Given the description of an element on the screen output the (x, y) to click on. 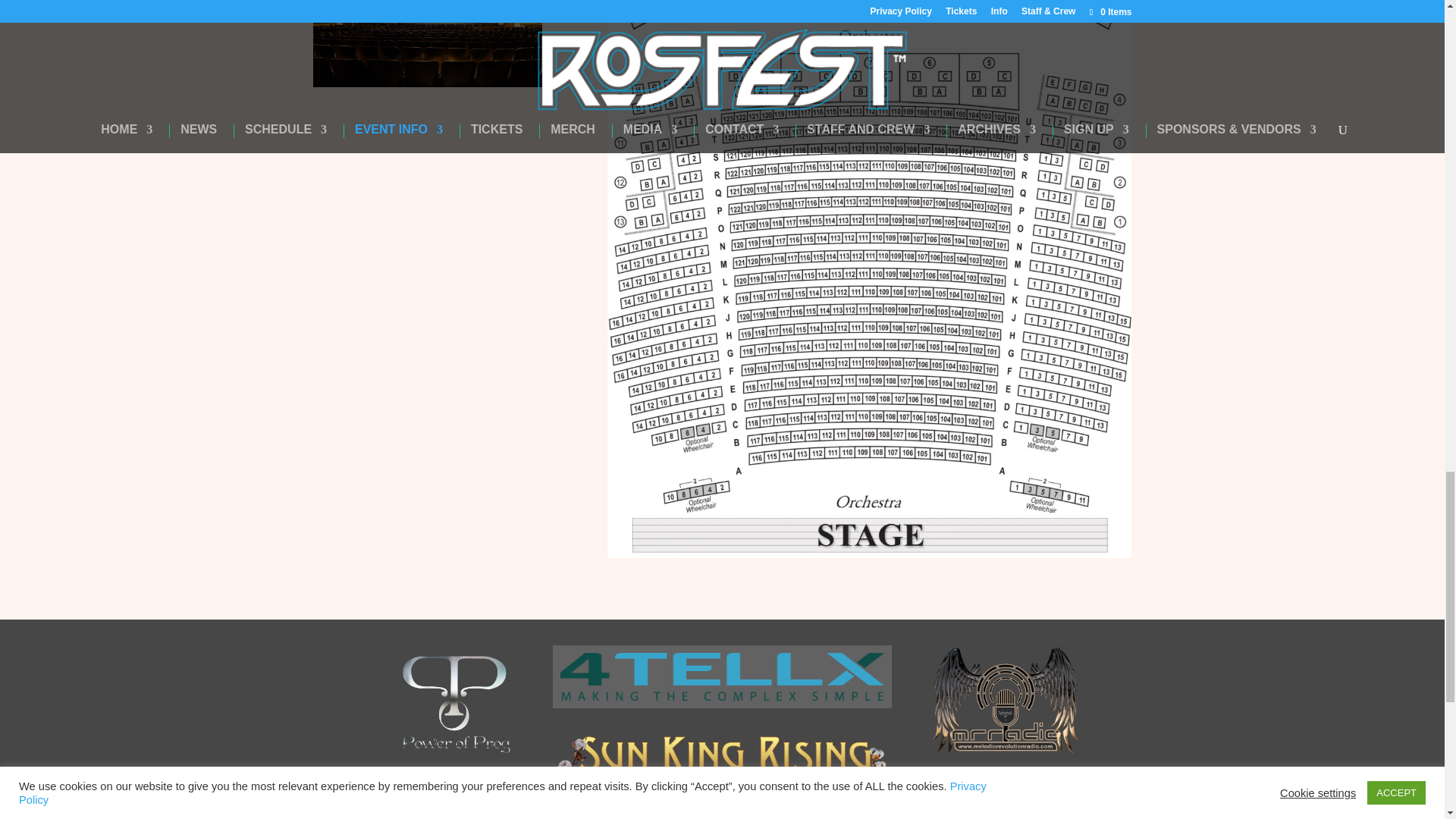
4tellX-367w (721, 676)
2022 MRRadio Logo 4 2 (1005, 699)
Pop logo (453, 704)
SOH-2 (427, 43)
sun king rising logo (722, 759)
